Given the description of an element on the screen output the (x, y) to click on. 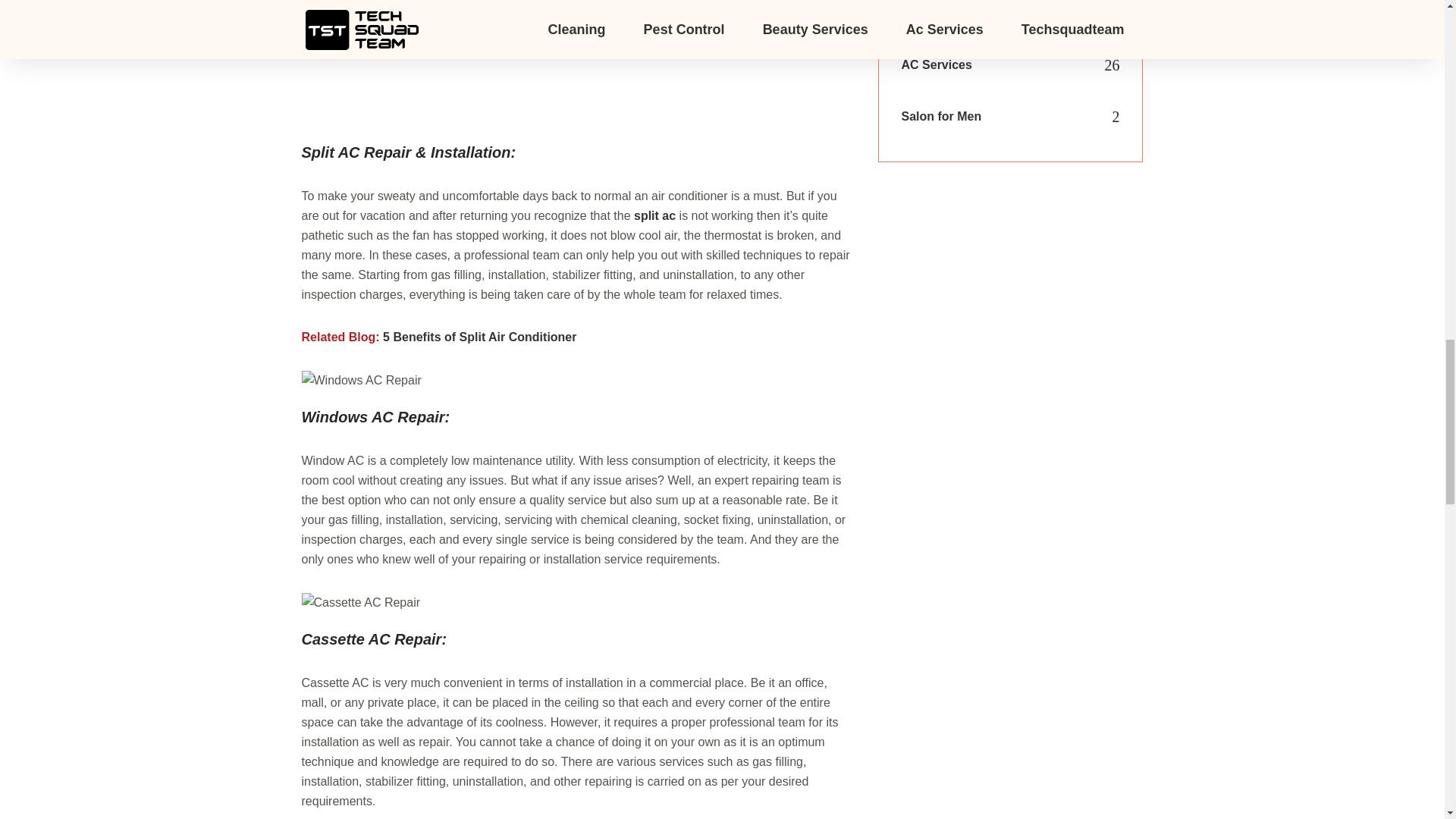
5 Benefits of Split Air Conditioner (479, 336)
split ac (654, 215)
Fumigation and Sanitization (981, 15)
